Given the description of an element on the screen output the (x, y) to click on. 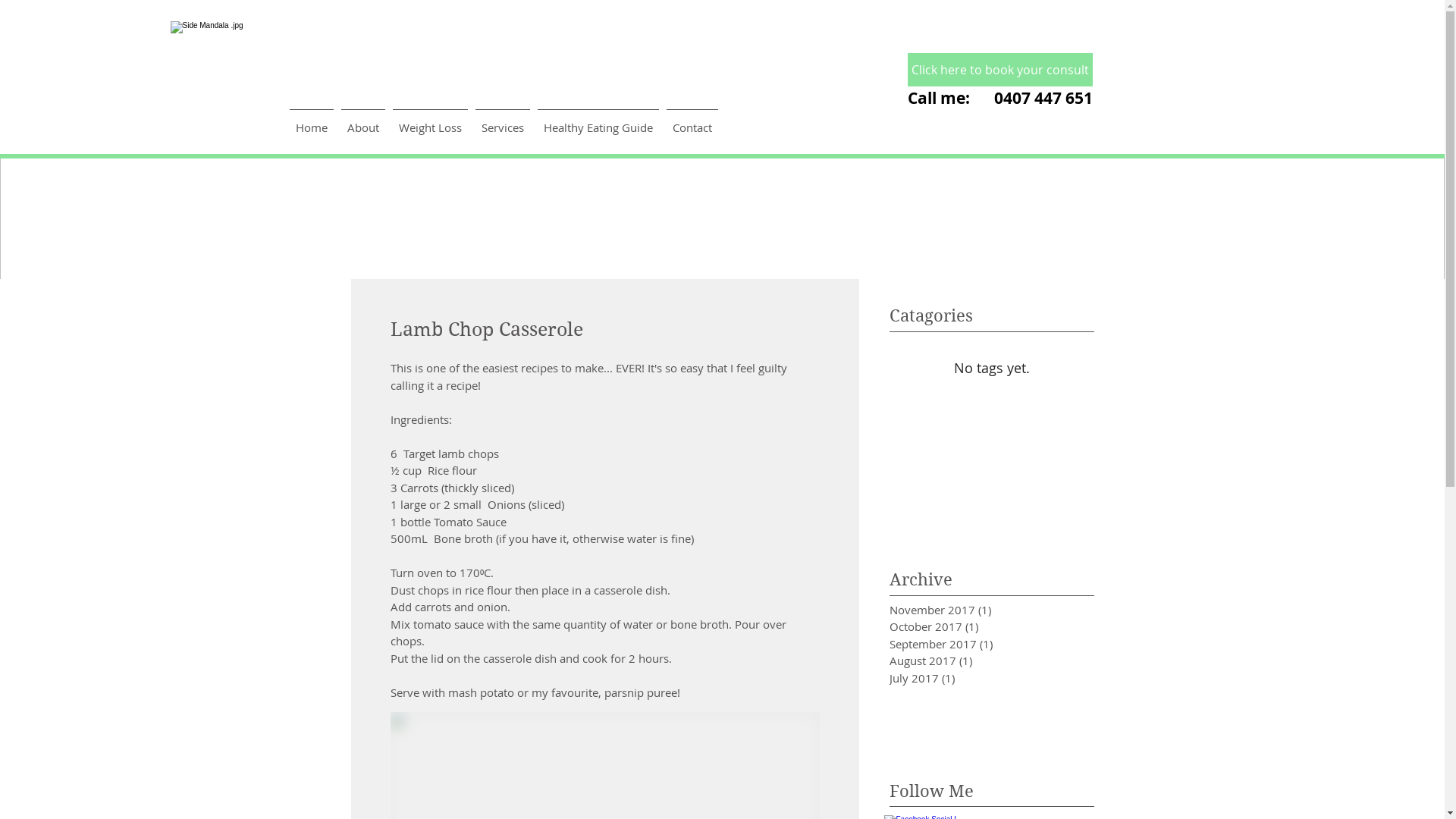
Click here to book your consult Element type: text (999, 69)
Healthy Eating Guide Element type: text (597, 120)
About Element type: text (363, 120)
Home Element type: text (311, 120)
Contact Element type: text (691, 120)
Weight Loss Element type: text (430, 120)
October 2017 (1) Element type: text (968, 626)
July 2017 (1) Element type: text (968, 678)
November 2017 (1) Element type: text (968, 609)
September 2017 (1) Element type: text (968, 643)
August 2017 (1) Element type: text (968, 660)
Services Element type: text (502, 120)
